Given the description of an element on the screen output the (x, y) to click on. 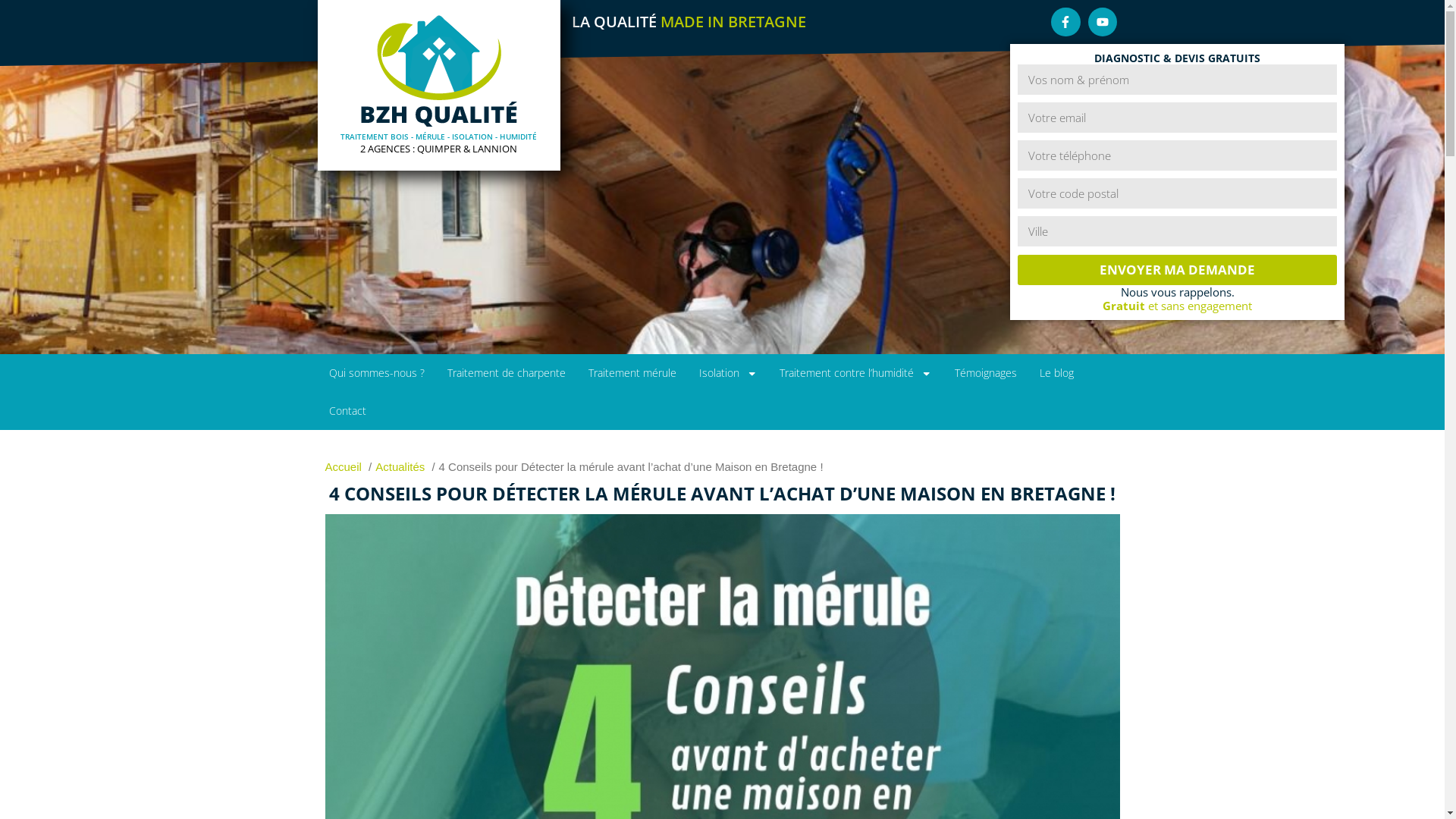
Contact Element type: text (346, 410)
Accueil Element type: text (342, 466)
Qui sommes-nous ? Element type: text (375, 373)
Le blog Element type: text (1056, 373)
Isolation Element type: text (727, 373)
ENVOYER MA DEMANDE Element type: text (1177, 269)
Traitement de charpente Element type: text (505, 373)
